Given the description of an element on the screen output the (x, y) to click on. 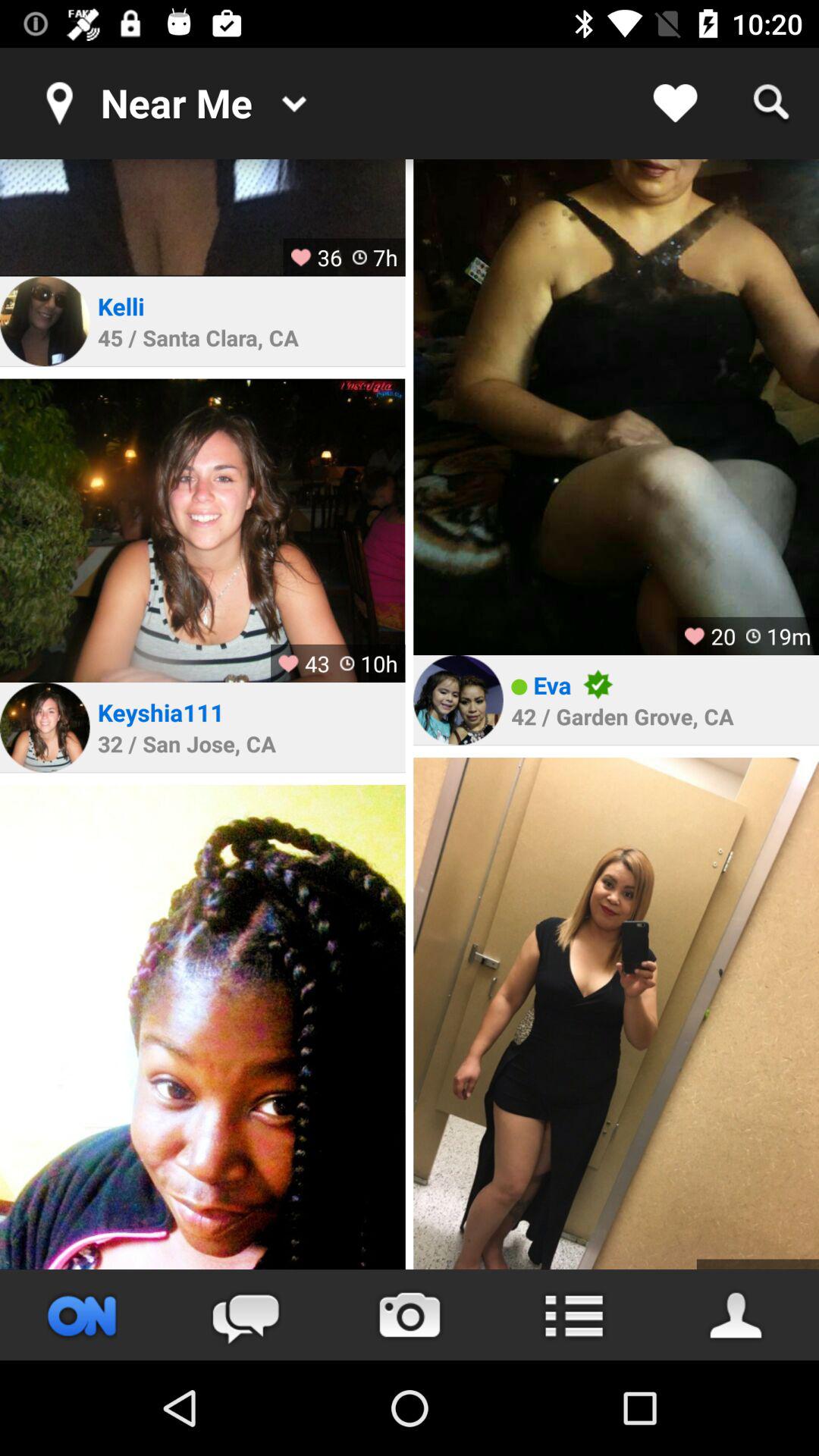
turn on location (81, 1315)
